Given the description of an element on the screen output the (x, y) to click on. 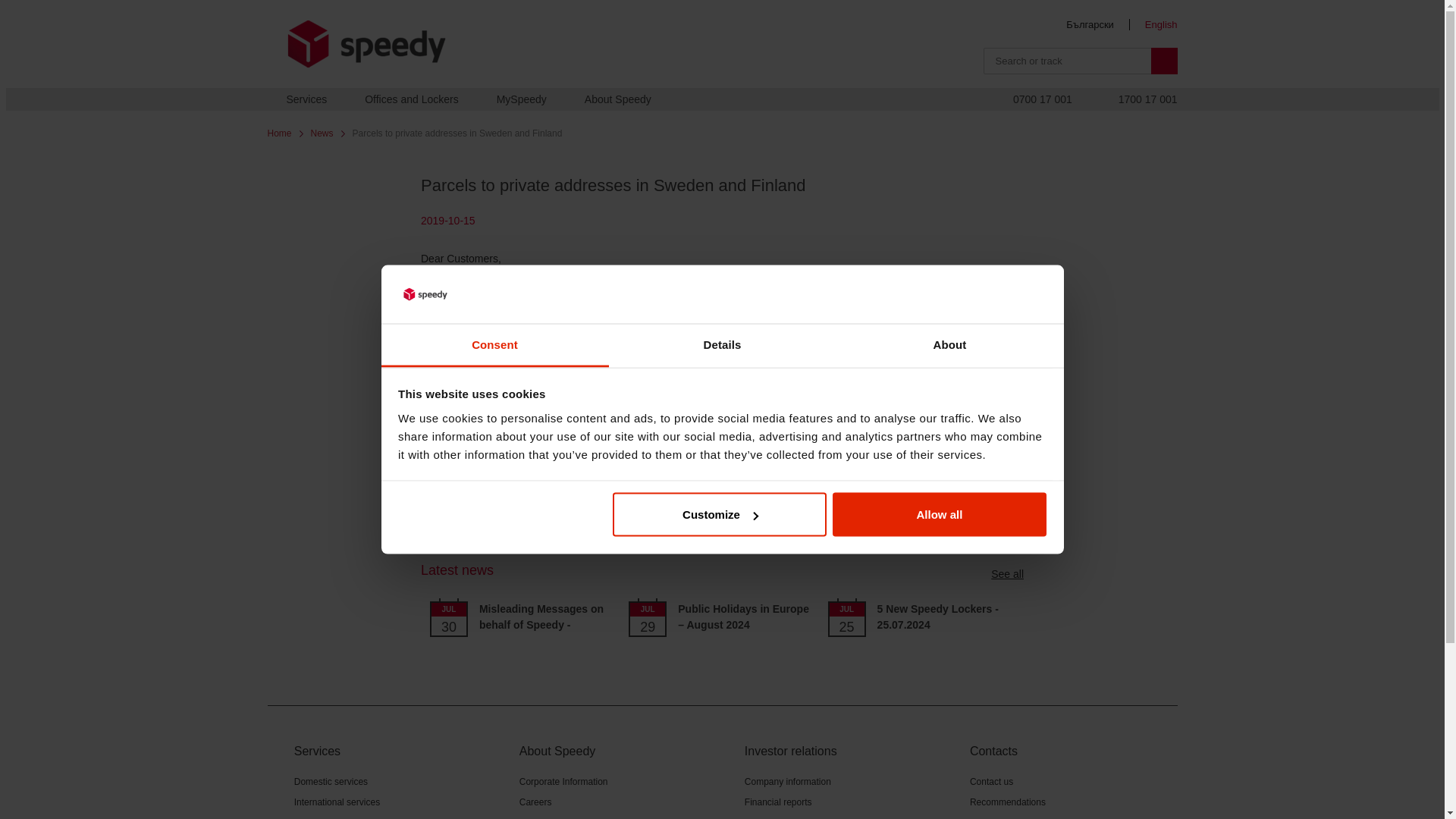
Consent (494, 344)
About (948, 344)
Allow all (939, 515)
Customize (719, 515)
Details (721, 344)
